Given the description of an element on the screen output the (x, y) to click on. 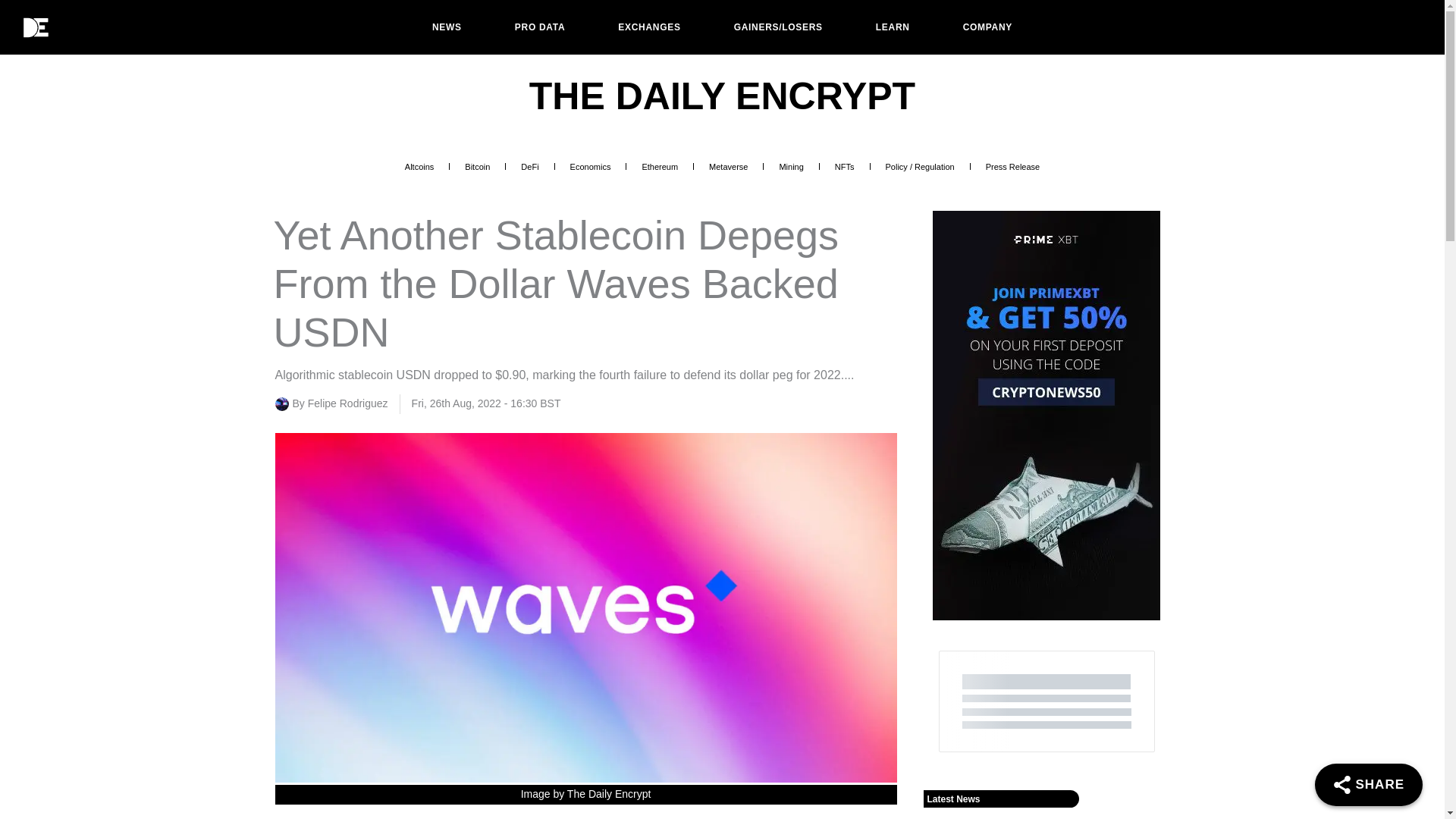
NEWS (446, 27)
EXCHANGES (649, 27)
COMPANY (987, 27)
LEARN (893, 27)
PRO DATA (540, 27)
